Given the description of an element on the screen output the (x, y) to click on. 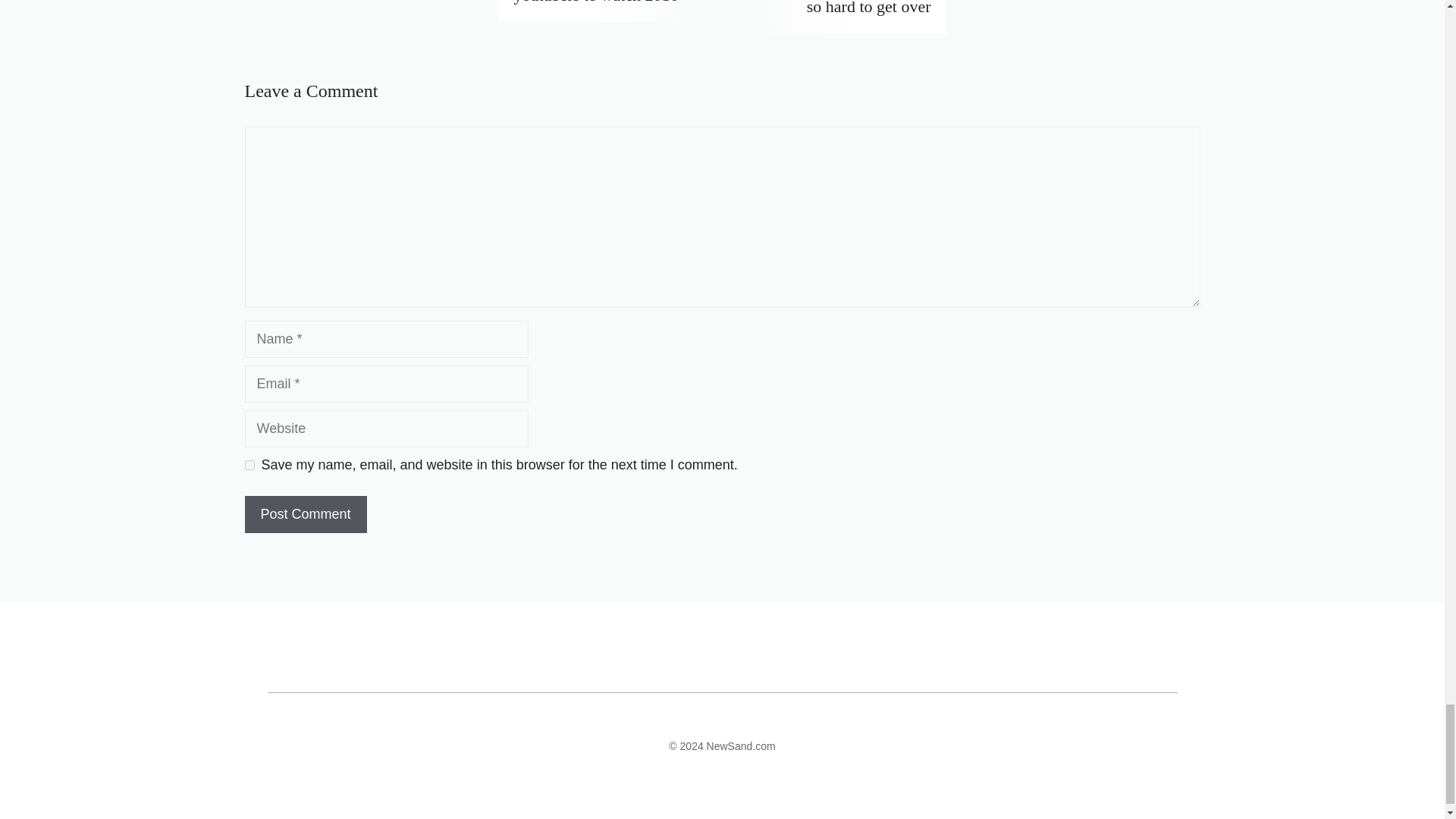
Post Comment (305, 514)
yes (248, 465)
Post Comment (305, 514)
youtubers to watch 2016 (595, 2)
why are emotional affairs so hard to get over (845, 7)
